Given the description of an element on the screen output the (x, y) to click on. 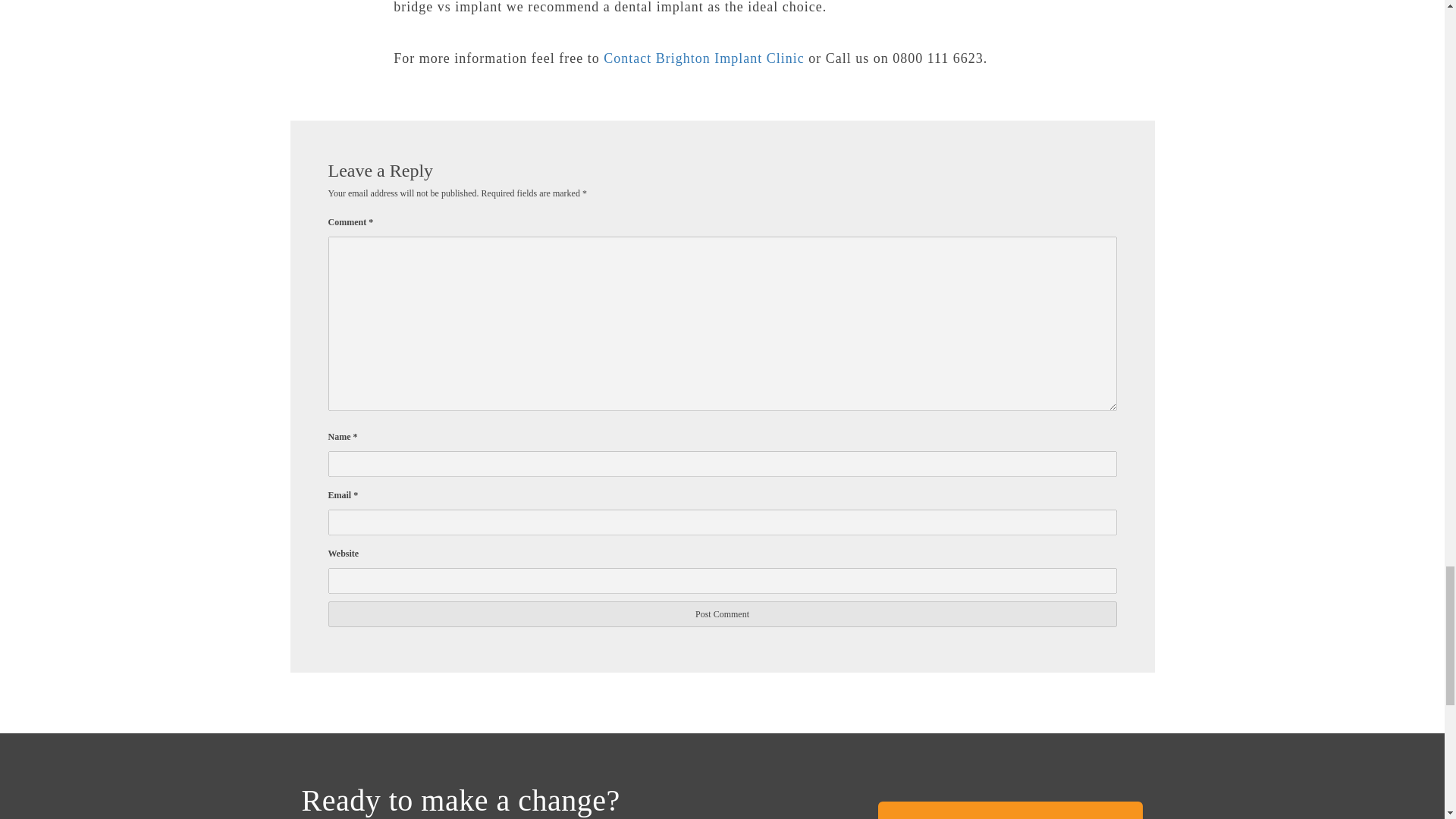
Contact Brighton Implant Clinic (703, 58)
Post Comment (721, 614)
